Given the description of an element on the screen output the (x, y) to click on. 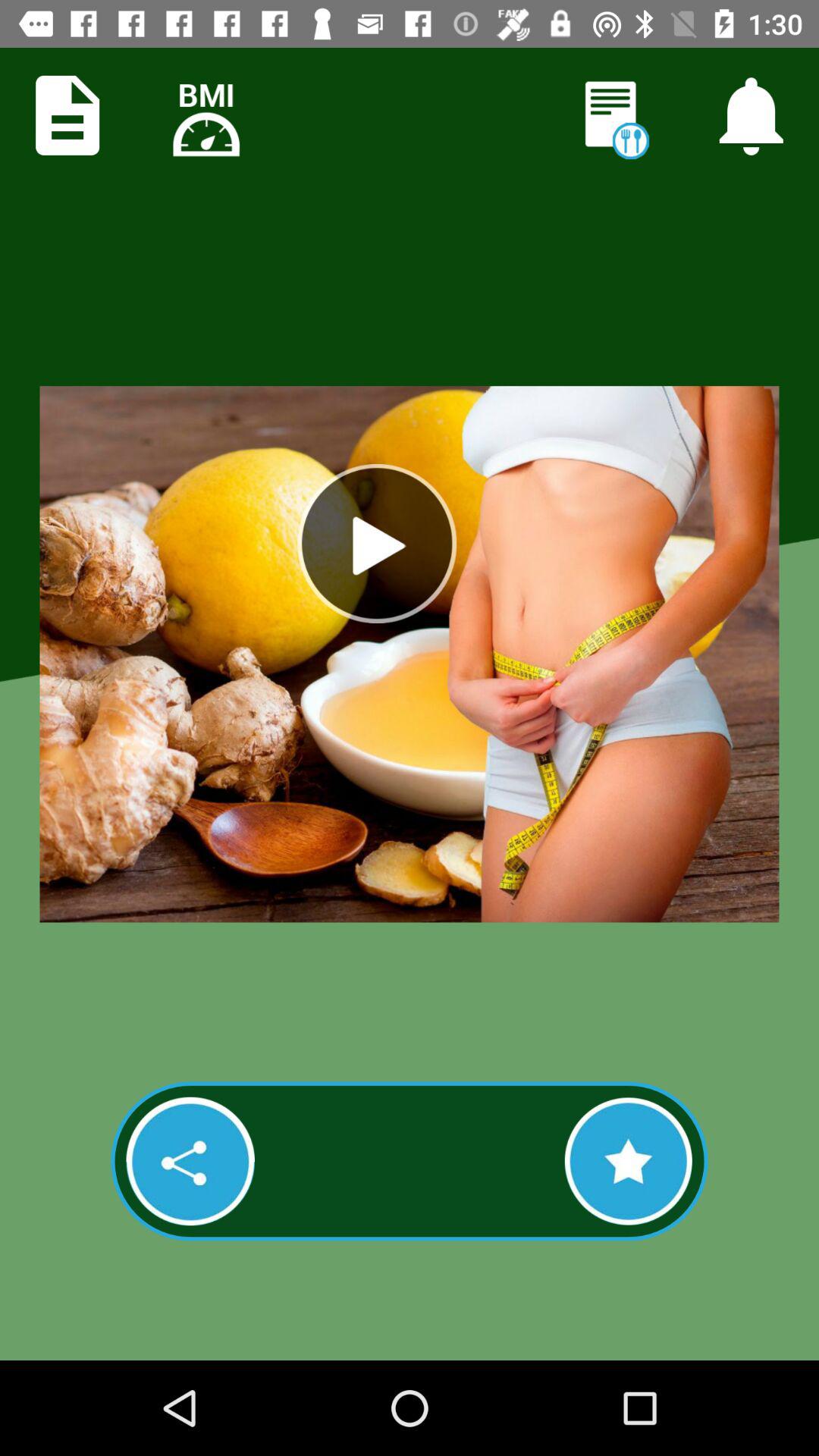
notifications available (751, 115)
